Given the description of an element on the screen output the (x, y) to click on. 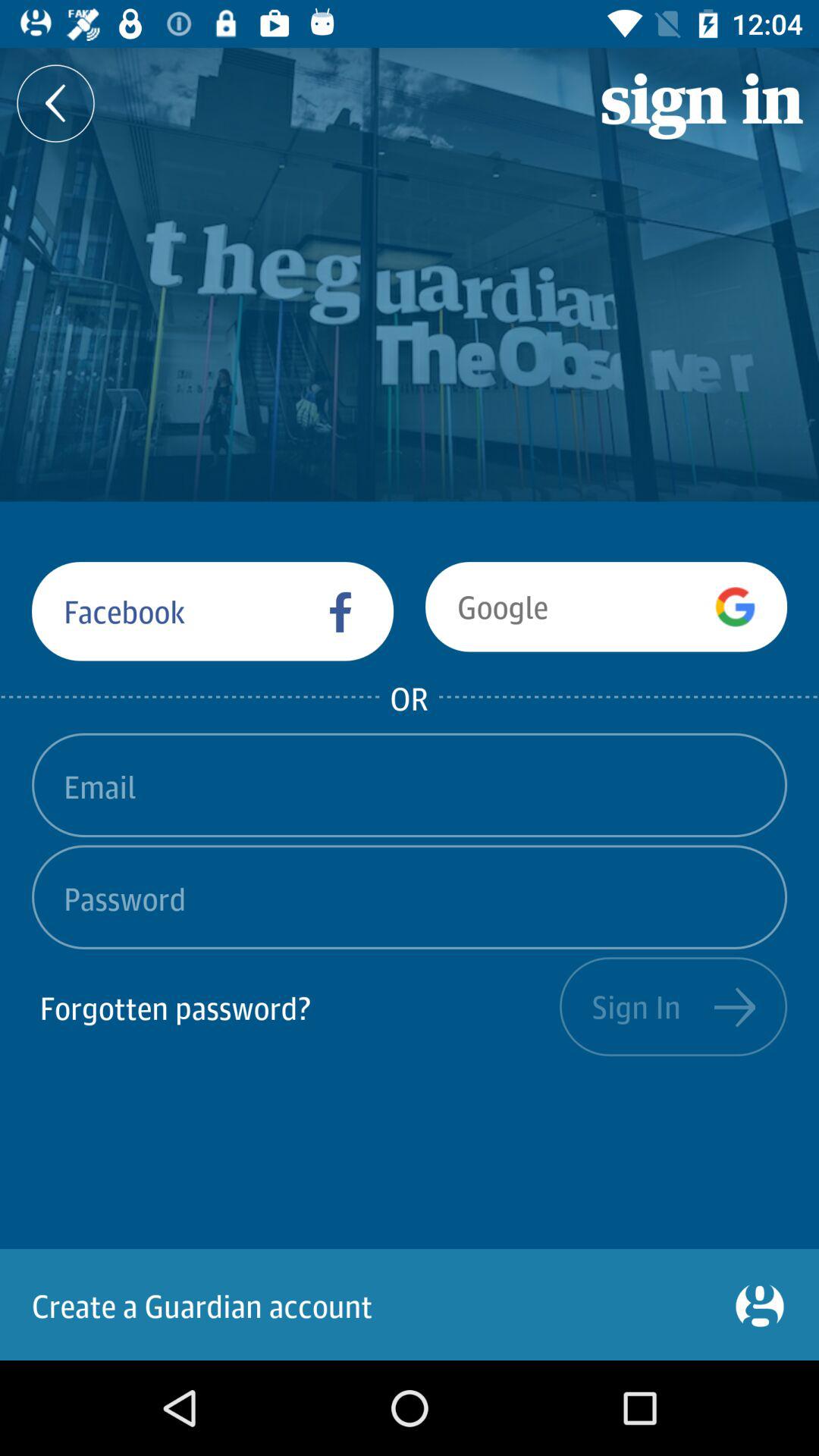
launch the icon to the left of sign in (55, 103)
